Given the description of an element on the screen output the (x, y) to click on. 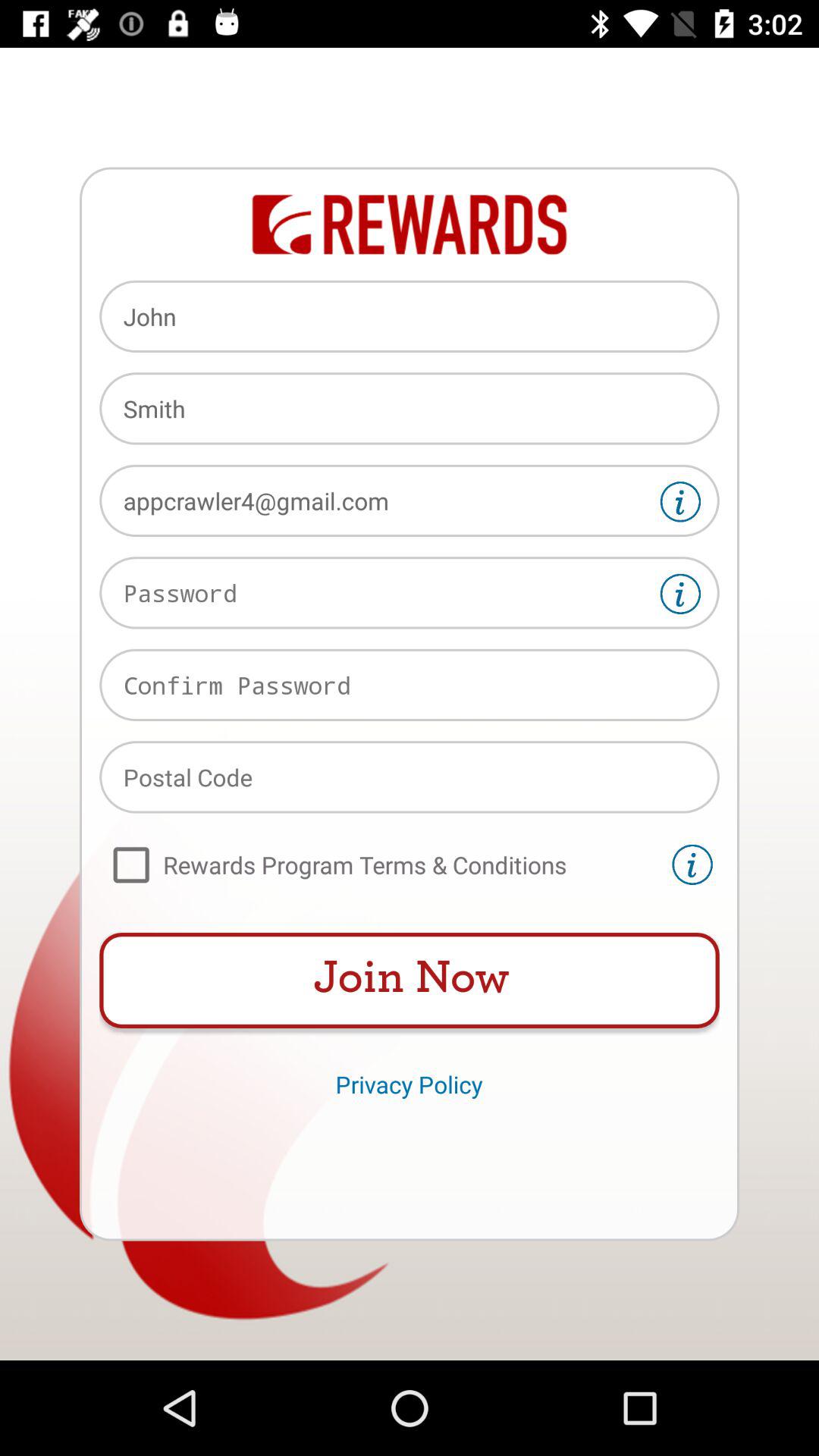
select the appcrawler4@gmail.com icon (409, 500)
